Given the description of an element on the screen output the (x, y) to click on. 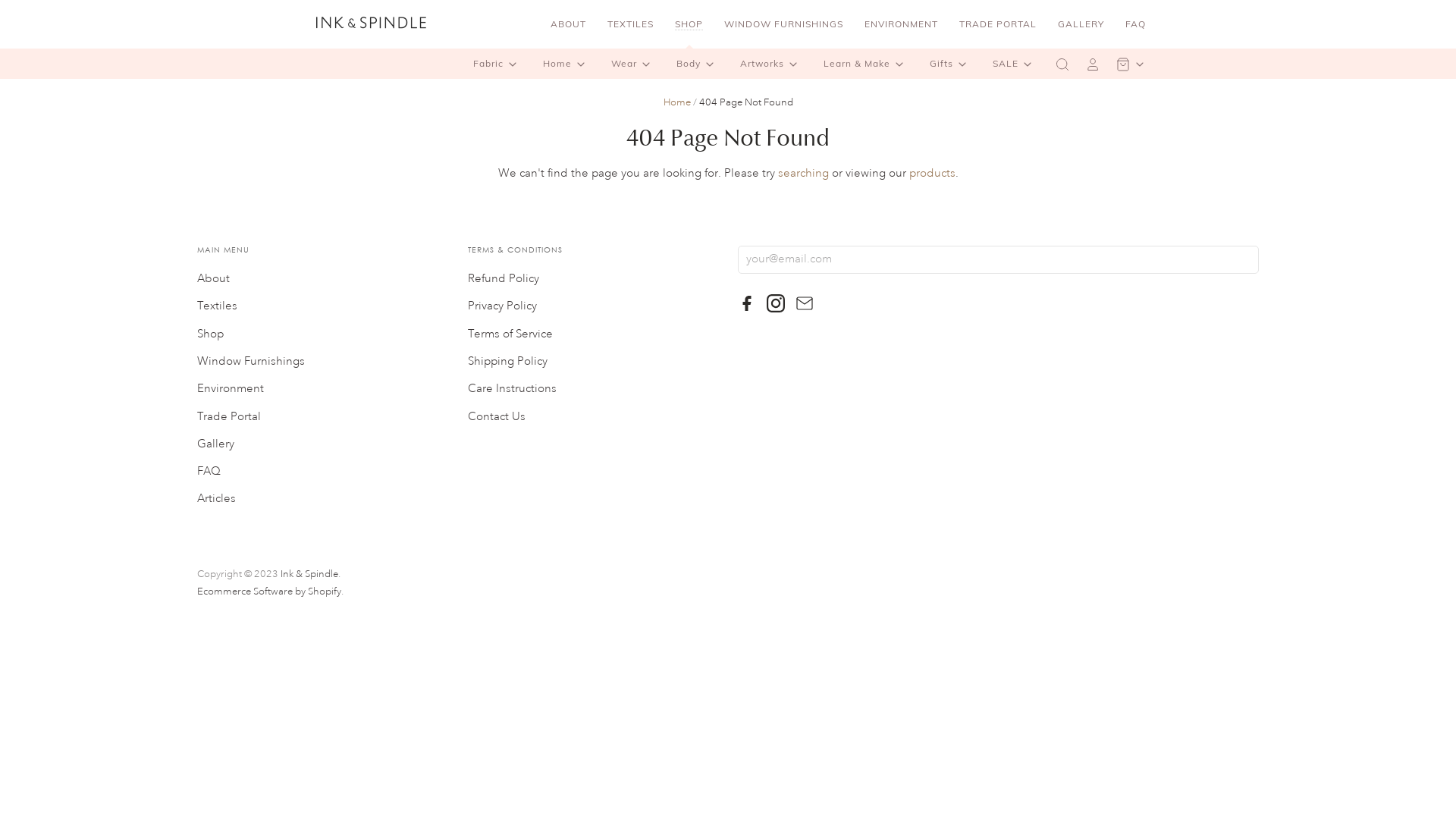
FAQ Element type: text (208, 471)
Home Element type: text (566, 63)
FAQ Element type: text (1135, 24)
Articles Element type: text (216, 498)
SHOP Element type: text (688, 24)
Gallery Element type: text (215, 443)
ENVIRONMENT Element type: text (901, 24)
Trade Portal Element type: text (228, 416)
WINDOW FURNISHINGS Element type: text (783, 24)
TRADE PORTAL Element type: text (997, 24)
ABOUT Element type: text (568, 24)
Care Instructions Element type: text (511, 388)
Terms of Service Element type: text (509, 333)
About Element type: text (213, 278)
Home Element type: text (676, 102)
TEXTILES Element type: text (630, 24)
Refund Policy Element type: text (503, 278)
Privacy Policy Element type: text (501, 305)
searching Element type: text (803, 173)
Contact Us Element type: text (496, 416)
Window Furnishings Element type: text (250, 361)
Gifts Element type: text (950, 63)
Fabric Element type: text (497, 63)
Environment Element type: text (230, 388)
Learn & Make Element type: text (865, 63)
Shipping Policy Element type: text (507, 361)
Textiles Element type: text (217, 305)
Body Element type: text (697, 63)
Cart Element type: text (1131, 63)
GALLERY Element type: text (1080, 24)
Ecommerce Software by Shopify Element type: text (269, 591)
Wear Element type: text (633, 63)
Artworks Element type: text (771, 63)
Shop Element type: text (210, 333)
Ink & Spindle Element type: text (309, 573)
products Element type: text (931, 173)
SALE Element type: text (1014, 63)
